Given the description of an element on the screen output the (x, y) to click on. 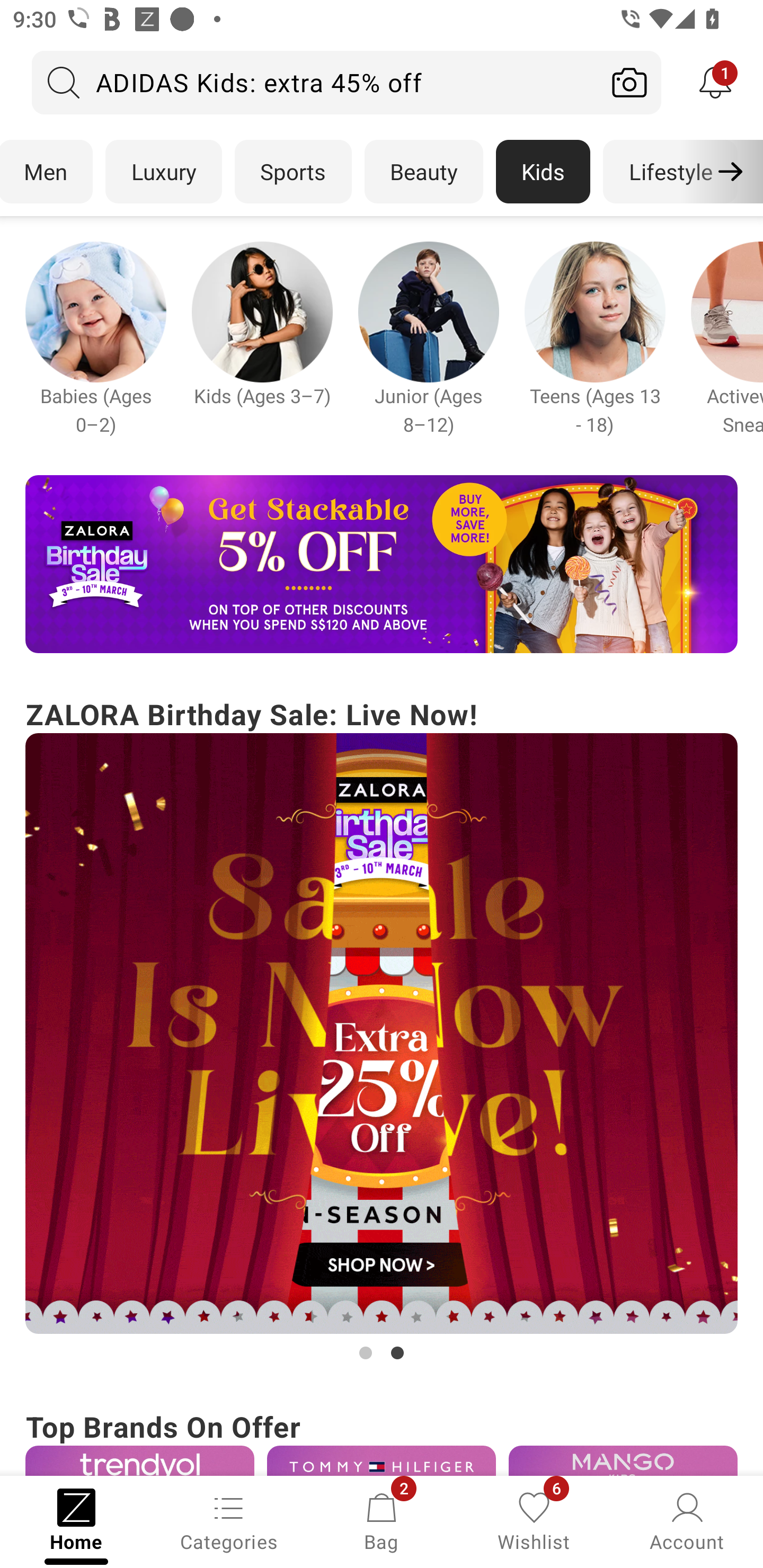
ADIDAS Kids: extra 45% off (314, 82)
Men (46, 171)
Luxury (163, 171)
Sports (293, 171)
Beauty (423, 171)
Kids (542, 171)
Lifestyle (669, 171)
Campaign banner (95, 311)
Campaign banner (261, 311)
Campaign banner (428, 311)
Campaign banner (594, 311)
Campaign banner (381, 564)
ZALORA Birthday Sale: Live Now! Campaign banner (381, 1028)
Campaign banner (381, 1033)
Campaign banner (139, 1460)
Campaign banner (381, 1460)
Campaign banner (622, 1460)
Categories (228, 1519)
Bag, 2 new notifications Bag (381, 1519)
Wishlist, 6 new notifications Wishlist (533, 1519)
Account (686, 1519)
